Given the description of an element on the screen output the (x, y) to click on. 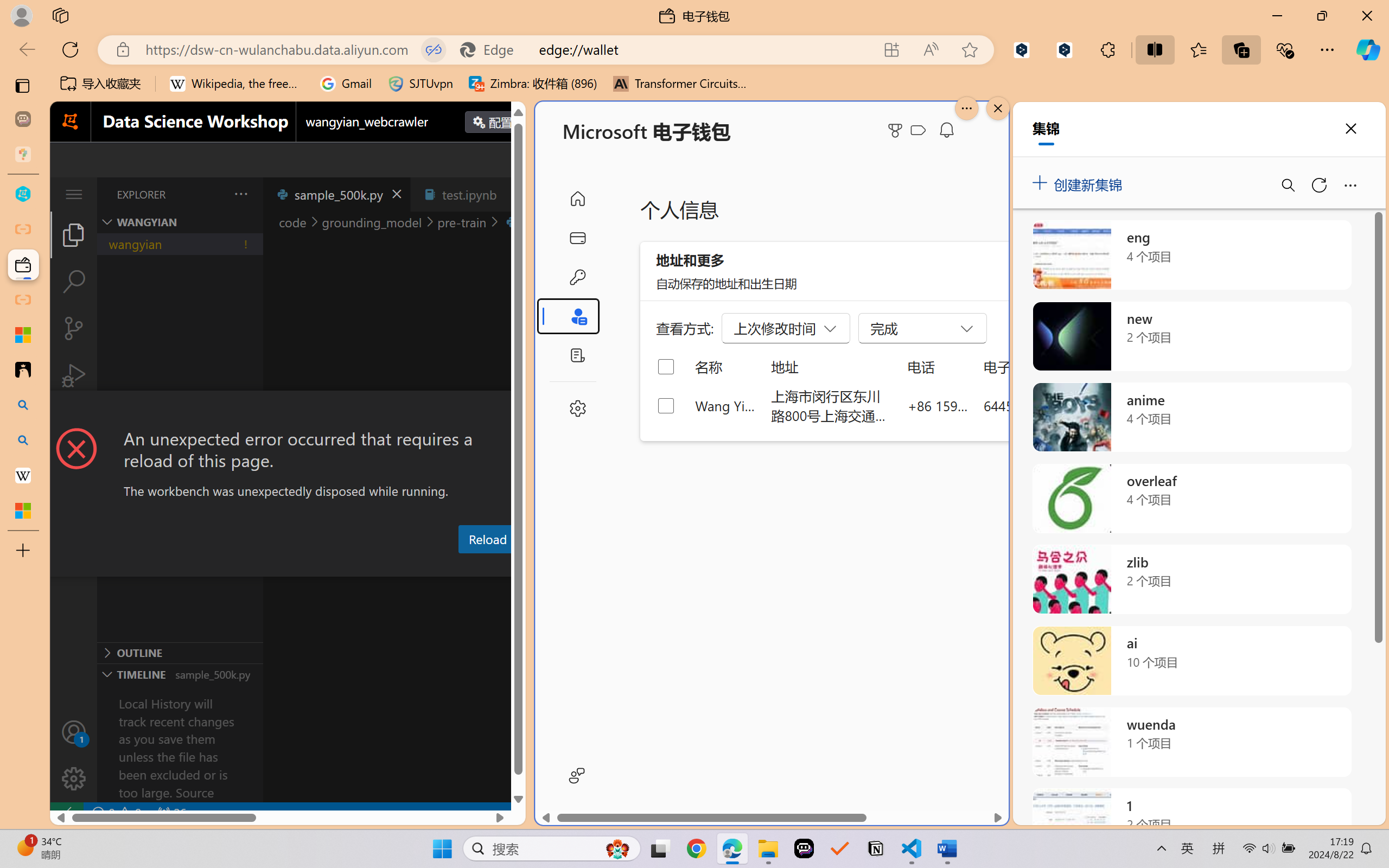
Wikipedia, the free encyclopedia (236, 83)
sample_500k.py (336, 194)
remote (66, 812)
Search (Ctrl+Shift+F) (73, 281)
Manage (73, 778)
Debug Console (Ctrl+Shift+Y) (463, 565)
Wang Yian (725, 405)
